Given the description of an element on the screen output the (x, y) to click on. 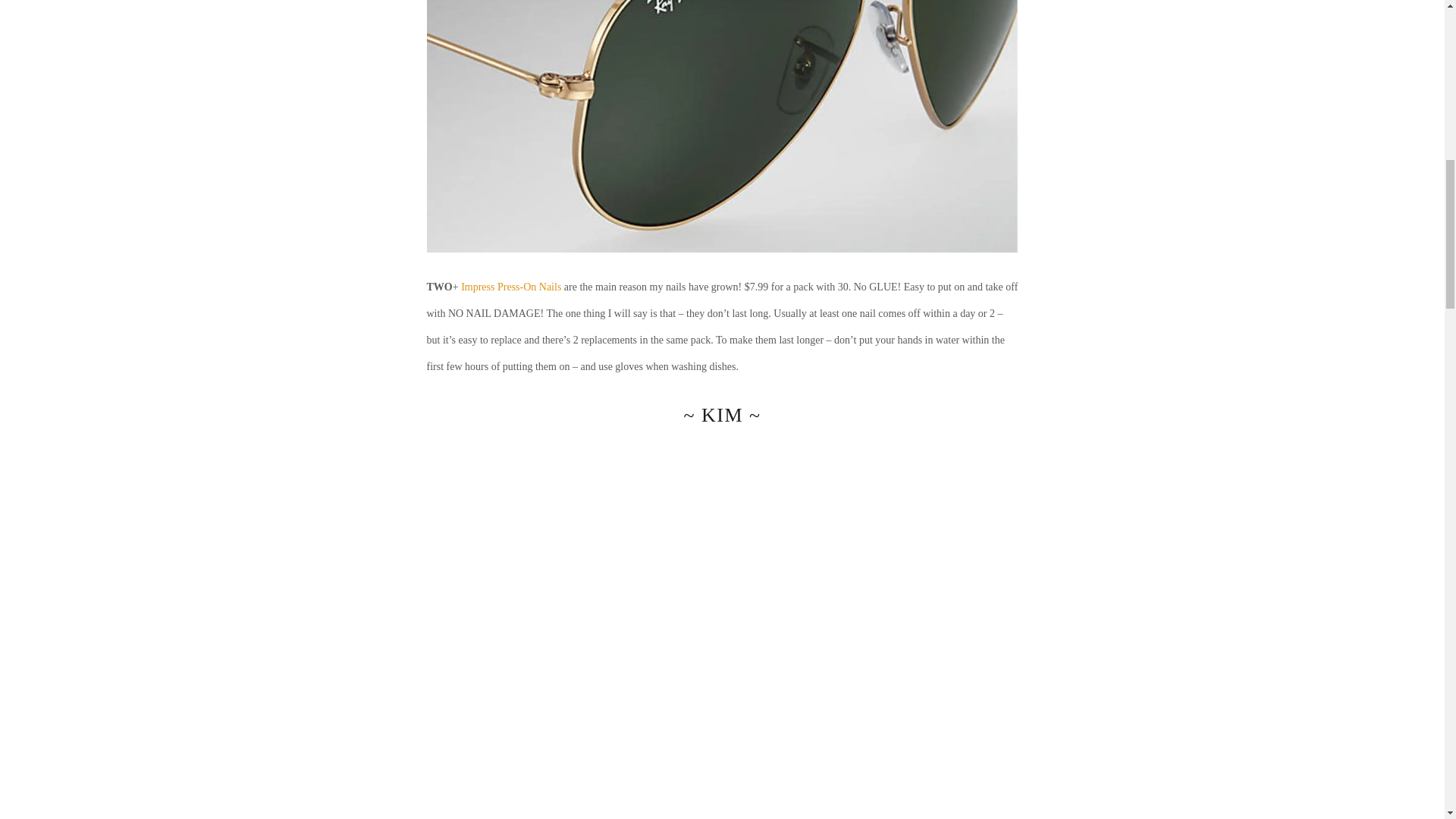
Impress Press-On Nails (510, 286)
